Given the description of an element on the screen output the (x, y) to click on. 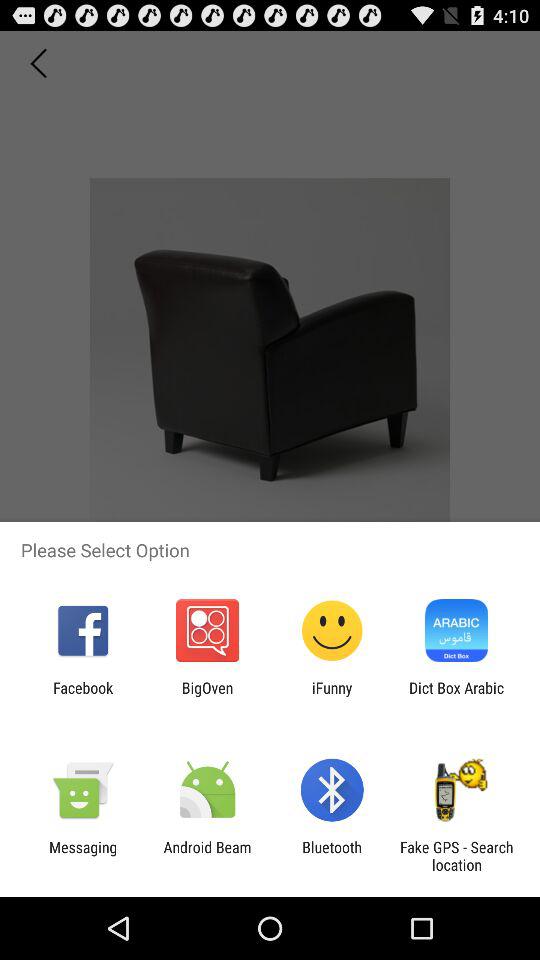
select bigoven icon (207, 696)
